Given the description of an element on the screen output the (x, y) to click on. 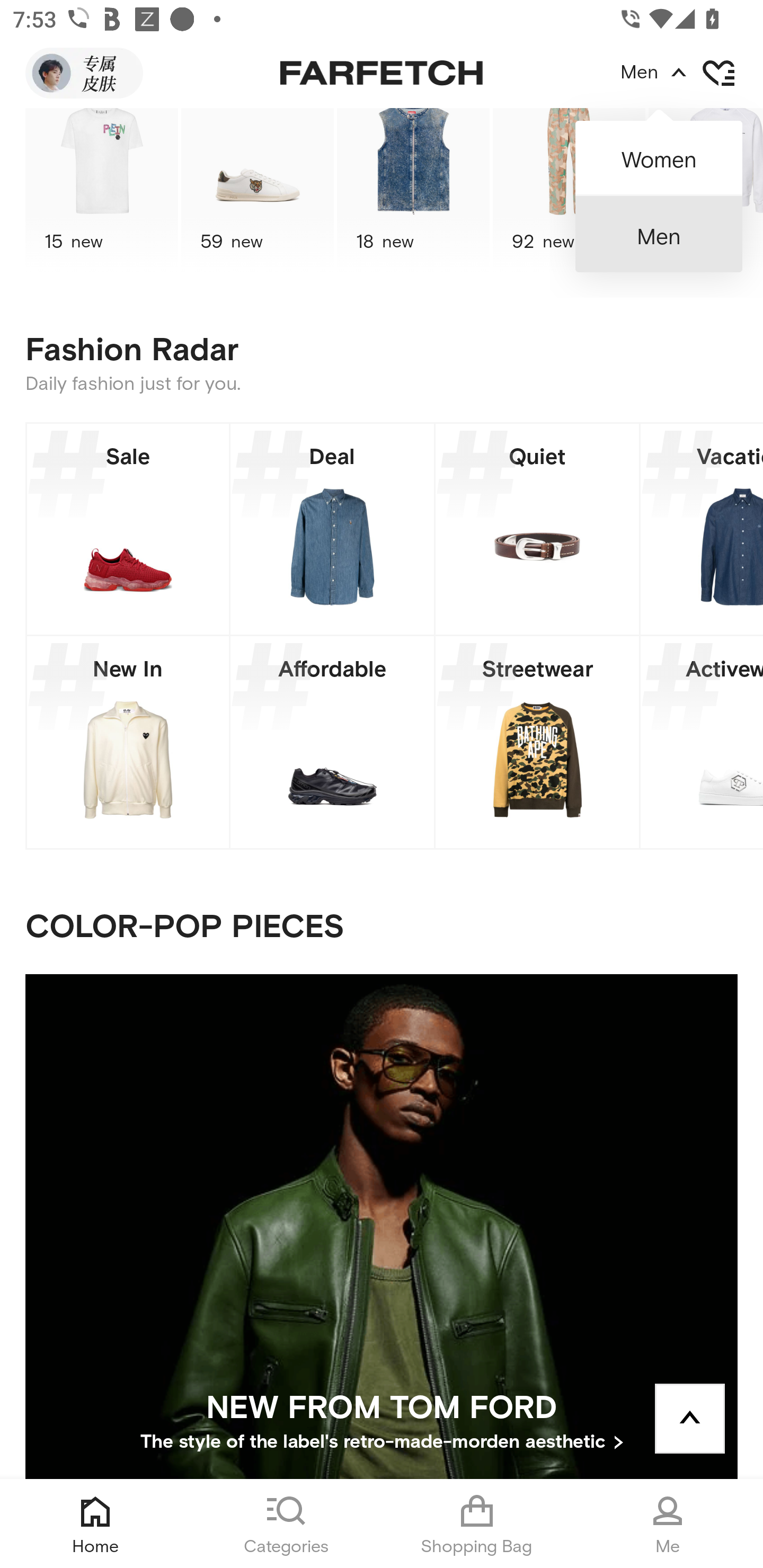
Women (658, 151)
Men (658, 234)
